Given the description of an element on the screen output the (x, y) to click on. 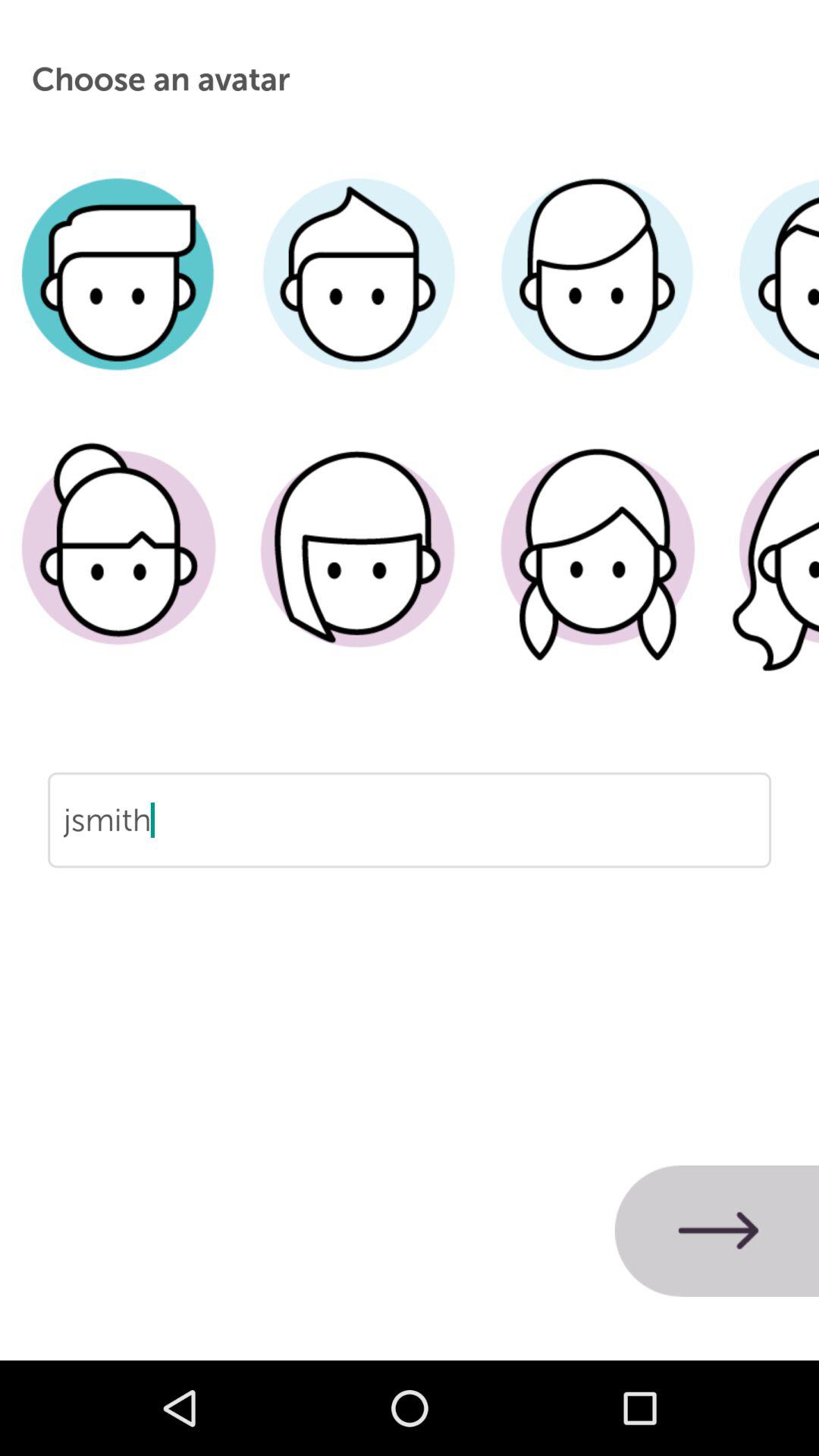
select the second male avatar (357, 296)
